Given the description of an element on the screen output the (x, y) to click on. 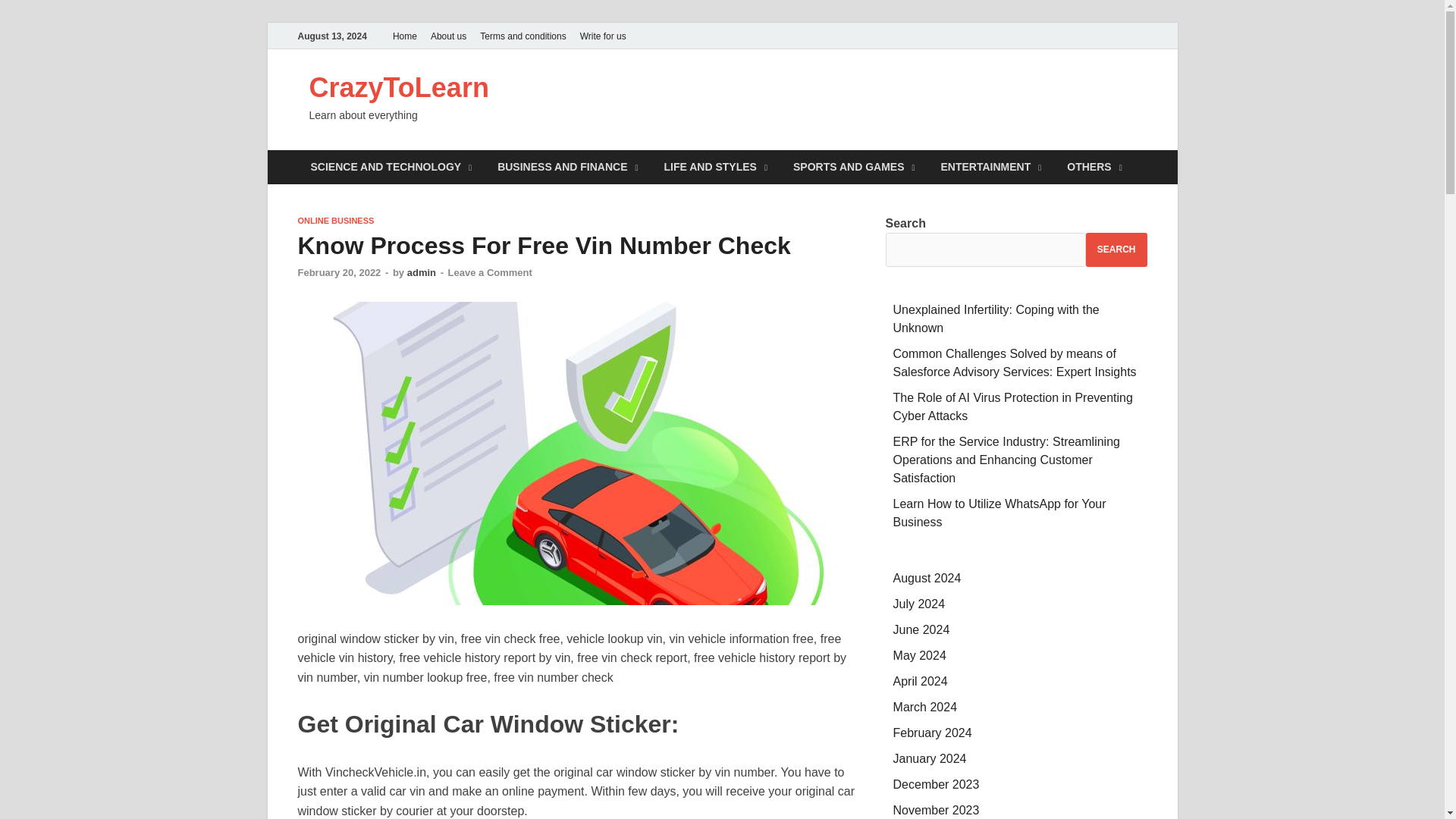
Write for us (603, 35)
CrazyToLearn (398, 87)
Home (404, 35)
About us (448, 35)
BUSINESS AND FINANCE (567, 166)
Terms and conditions (522, 35)
SCIENCE AND TECHNOLOGY (390, 166)
LIFE AND STYLES (715, 166)
